Given the description of an element on the screen output the (x, y) to click on. 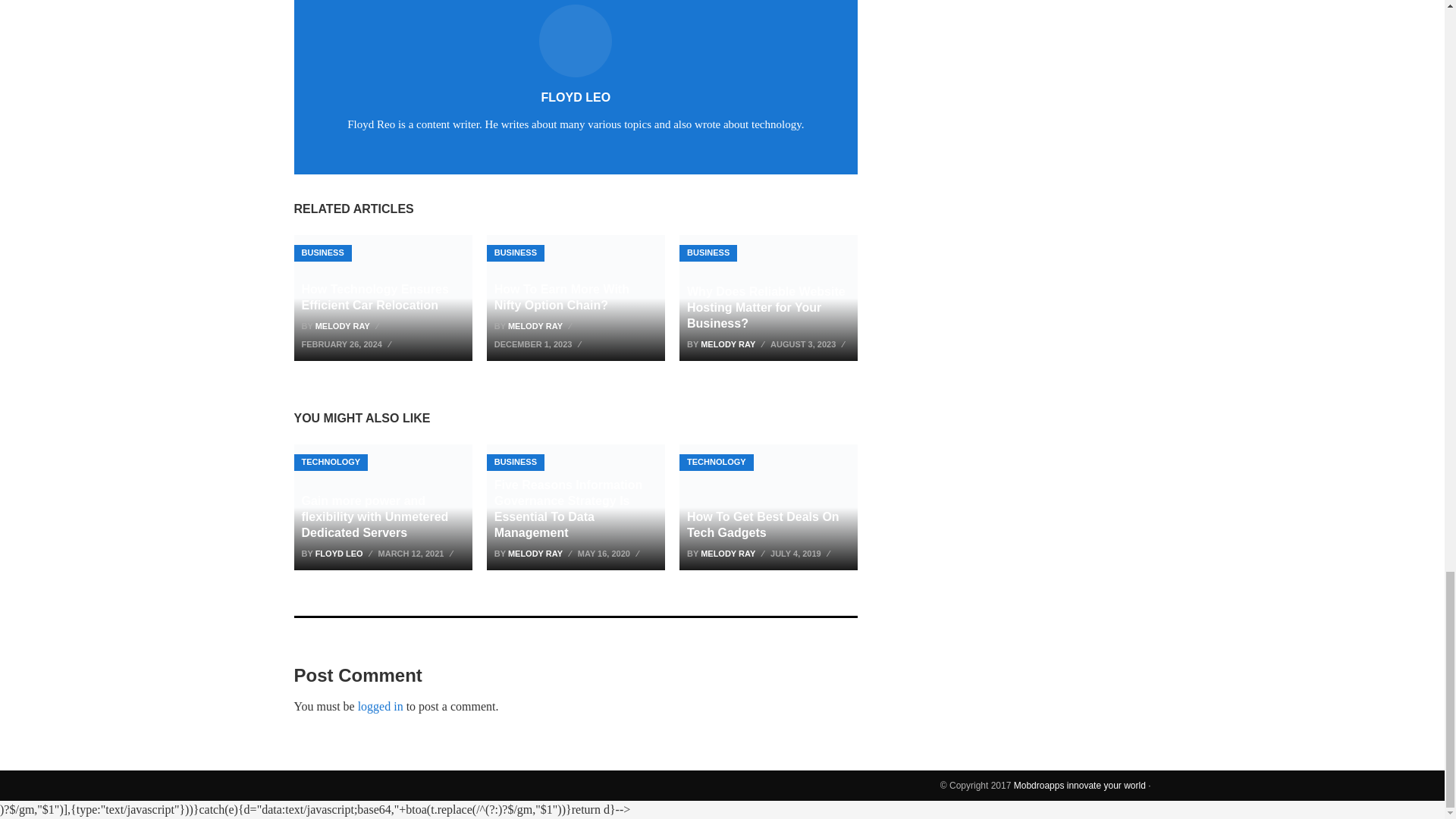
How Technology Ensures Efficient Car Relocation (382, 297)
How To Get Best Deals On Tech Gadgets (768, 506)
Why Does Reliable Website Hosting Matter for Your Business? (768, 297)
Friday, March 12, 2021, 7:43 am (417, 553)
Monday, February 26, 2024, 9:36 am (347, 343)
How To Earn More With Nifty Option Chain? (575, 297)
Saturday, May 16, 2020, 5:37 pm (610, 553)
Thursday, July 4, 2019, 11:58 am (802, 553)
Thursday, August 3, 2023, 9:15 am (809, 343)
